Given the description of an element on the screen output the (x, y) to click on. 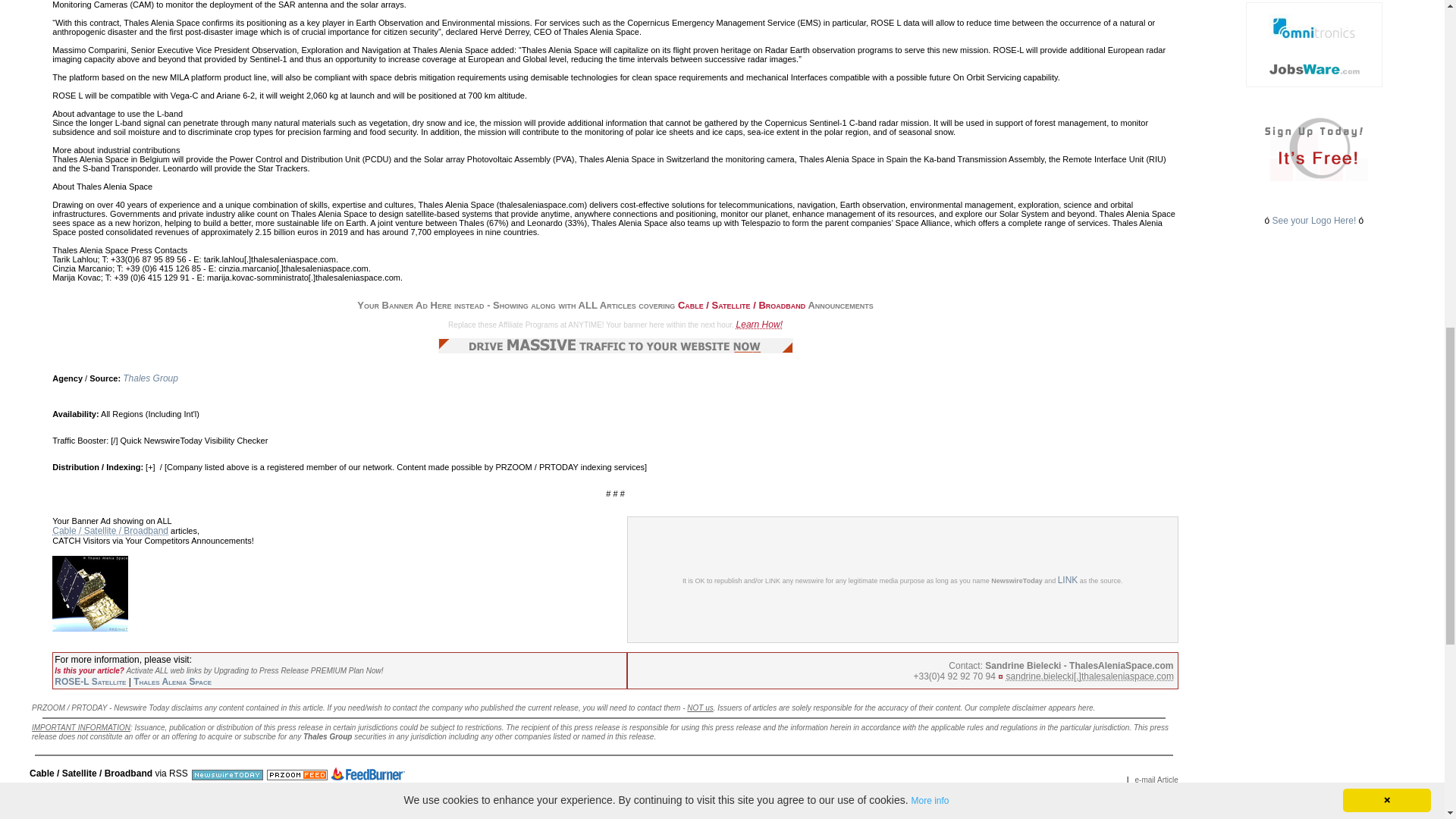
ROSE-L Satellite (90, 681)
here (1085, 706)
LINK (1068, 579)
Thales Alenia Space (172, 681)
Quick NewswireToday (161, 439)
Learn How! (759, 324)
Find who Retweet (65, 786)
Thales Group (149, 378)
e-mail Article (1156, 778)
